Given the description of an element on the screen output the (x, y) to click on. 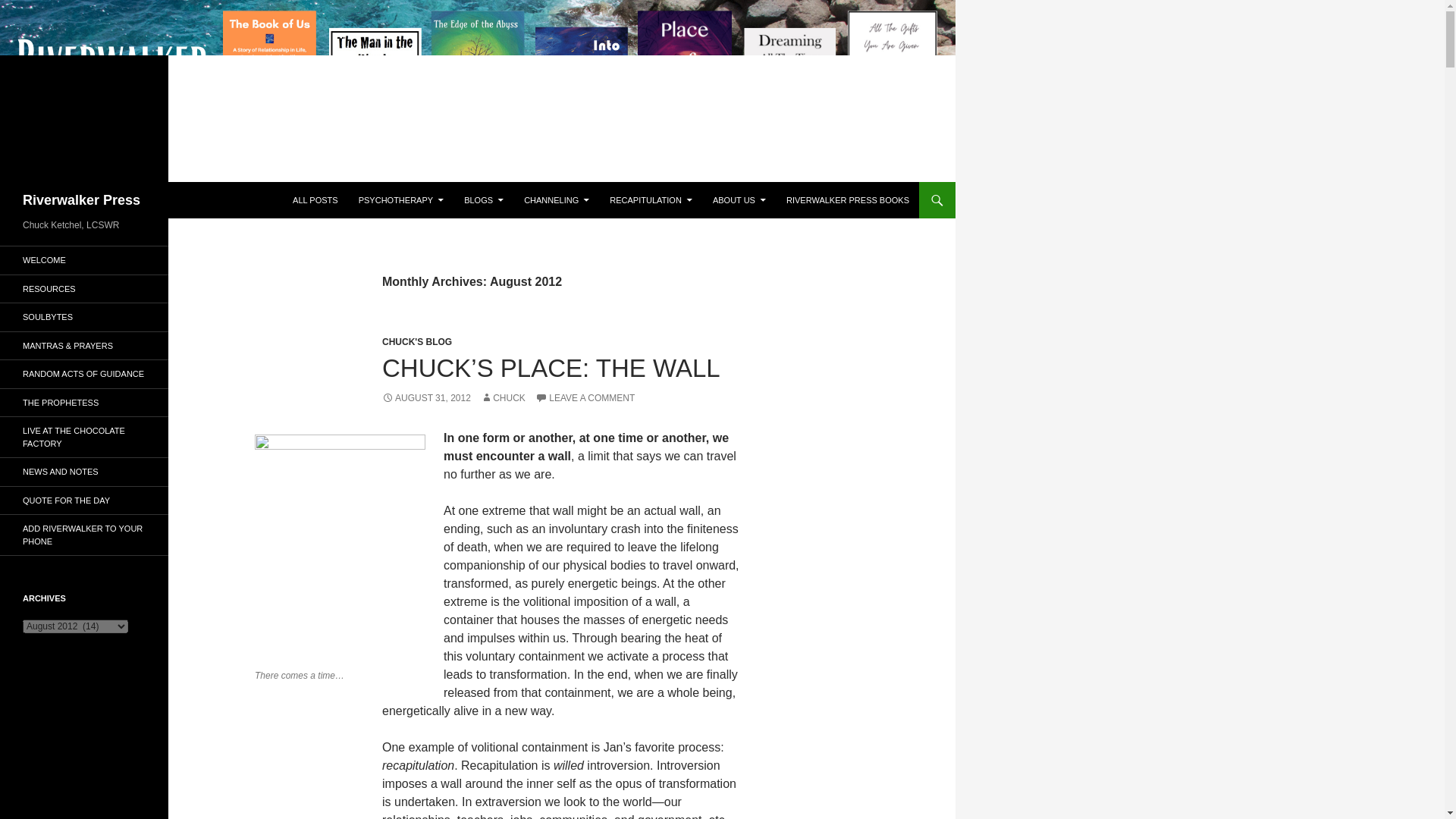
ALL POSTS (315, 199)
AUGUST 31, 2012 (425, 398)
Riverwalker Press (81, 199)
PSYCHOTHERAPY (400, 199)
CHUCK'S BLOG (416, 341)
ABOUT US (738, 199)
All Posts (315, 199)
RIVERWALKER PRESS BOOKS (847, 199)
LEAVE A COMMENT (584, 398)
CHUCK (502, 398)
BLOGS (483, 199)
CHANNELING (556, 199)
RECAPITULATION (650, 199)
